Given the description of an element on the screen output the (x, y) to click on. 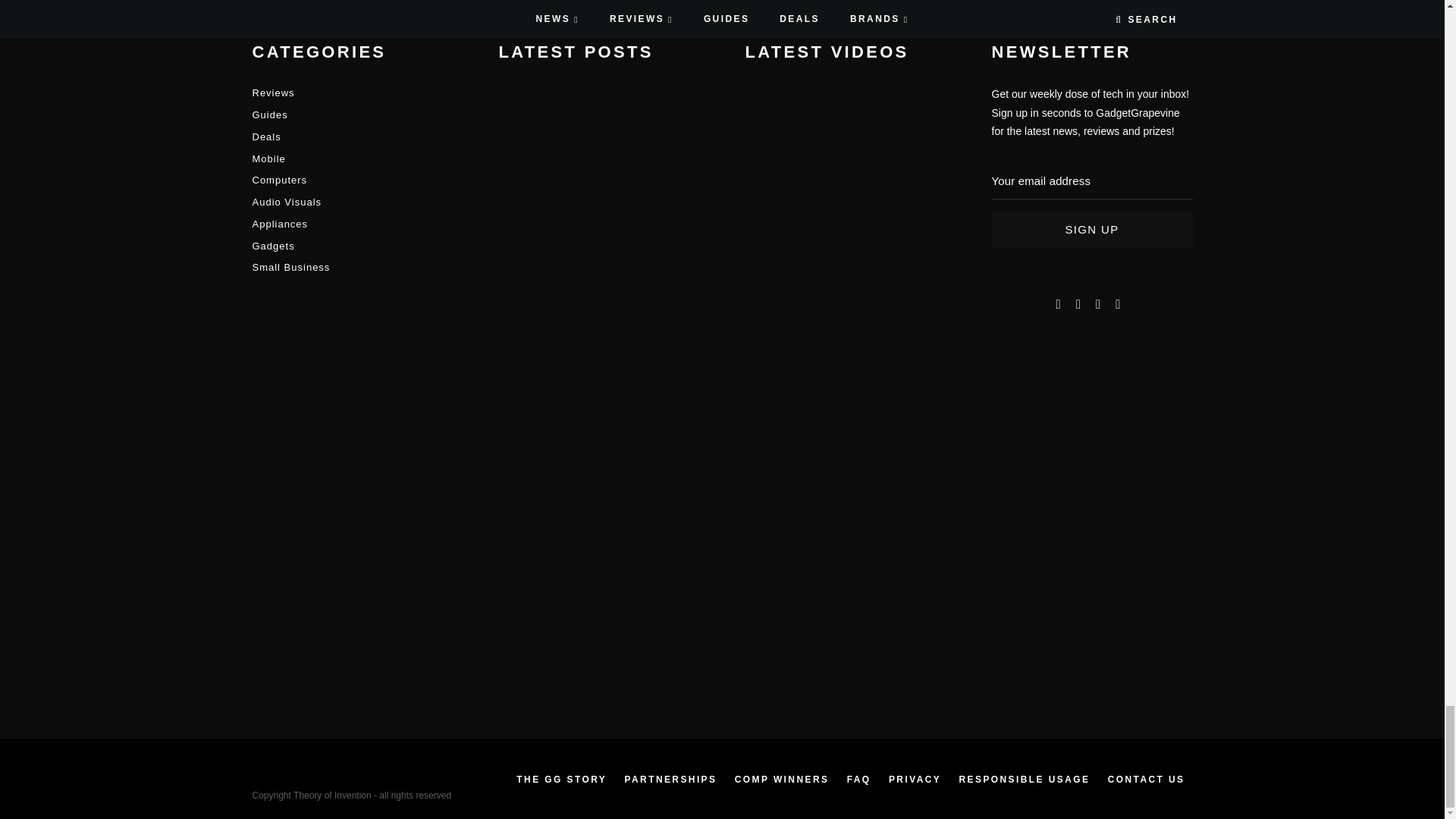
Sign up (1091, 229)
